Given the description of an element on the screen output the (x, y) to click on. 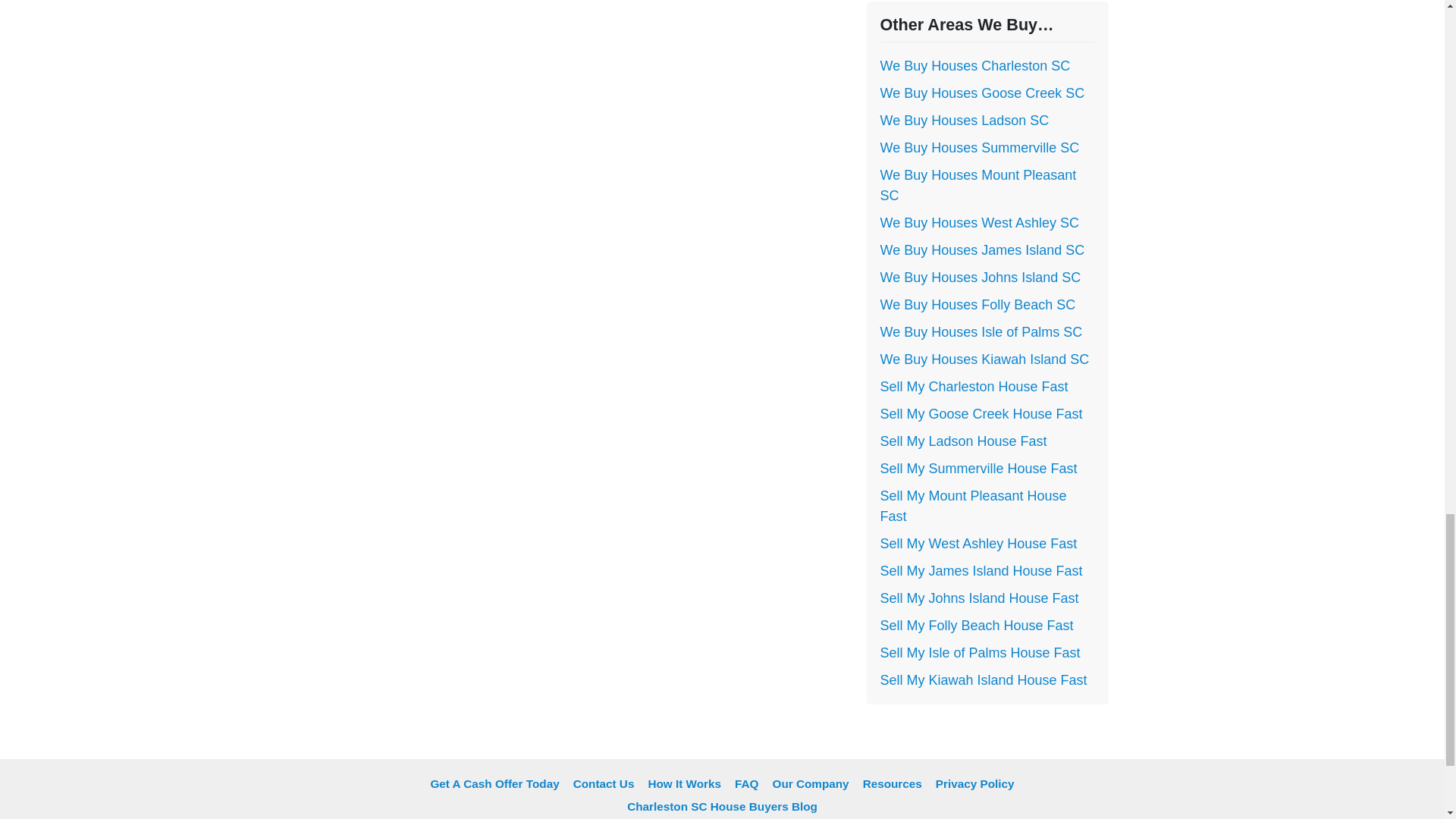
We Buy Houses Kiawah Island SC (984, 359)
We Buy Houses Charleston SC (974, 65)
We Buy Houses Johns Island SC (979, 277)
We Buy Houses Goose Creek SC (981, 92)
We Buy Houses Mount Pleasant SC (977, 185)
We Buy Houses Folly Beach SC (977, 304)
We Buy Houses Isle of Palms SC (980, 331)
We Buy Houses Summerville SC (978, 147)
We Buy Houses West Ashley SC (978, 222)
We Buy Houses Ladson SC (963, 120)
